Given the description of an element on the screen output the (x, y) to click on. 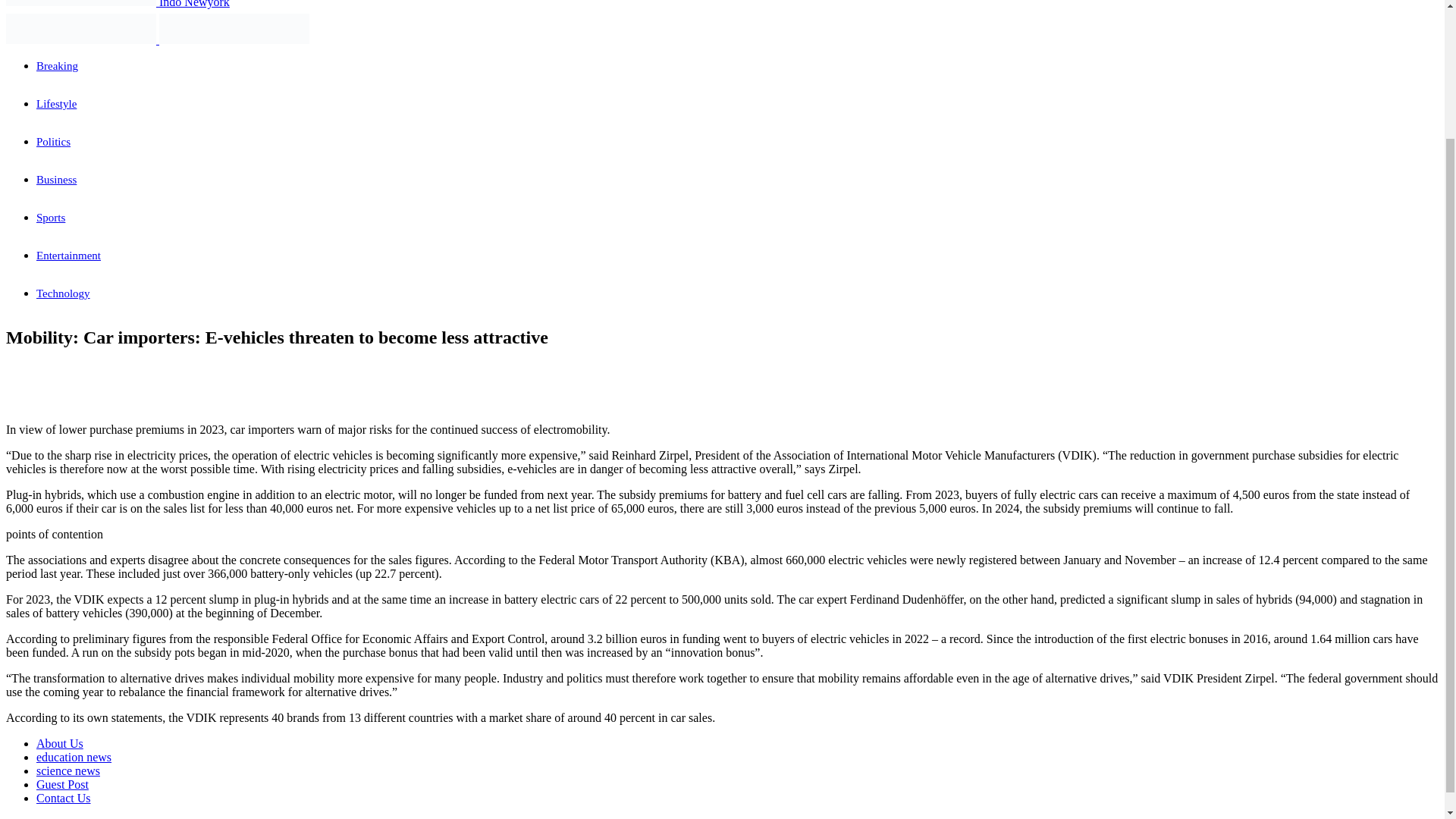
Business (56, 179)
About Us (59, 743)
Contact Us (63, 797)
Breaking (57, 65)
education news (74, 757)
Indo Newyork (117, 4)
Sports (50, 217)
Lifestyle (56, 103)
Guest Post (62, 784)
Politics (52, 141)
